Given the description of an element on the screen output the (x, y) to click on. 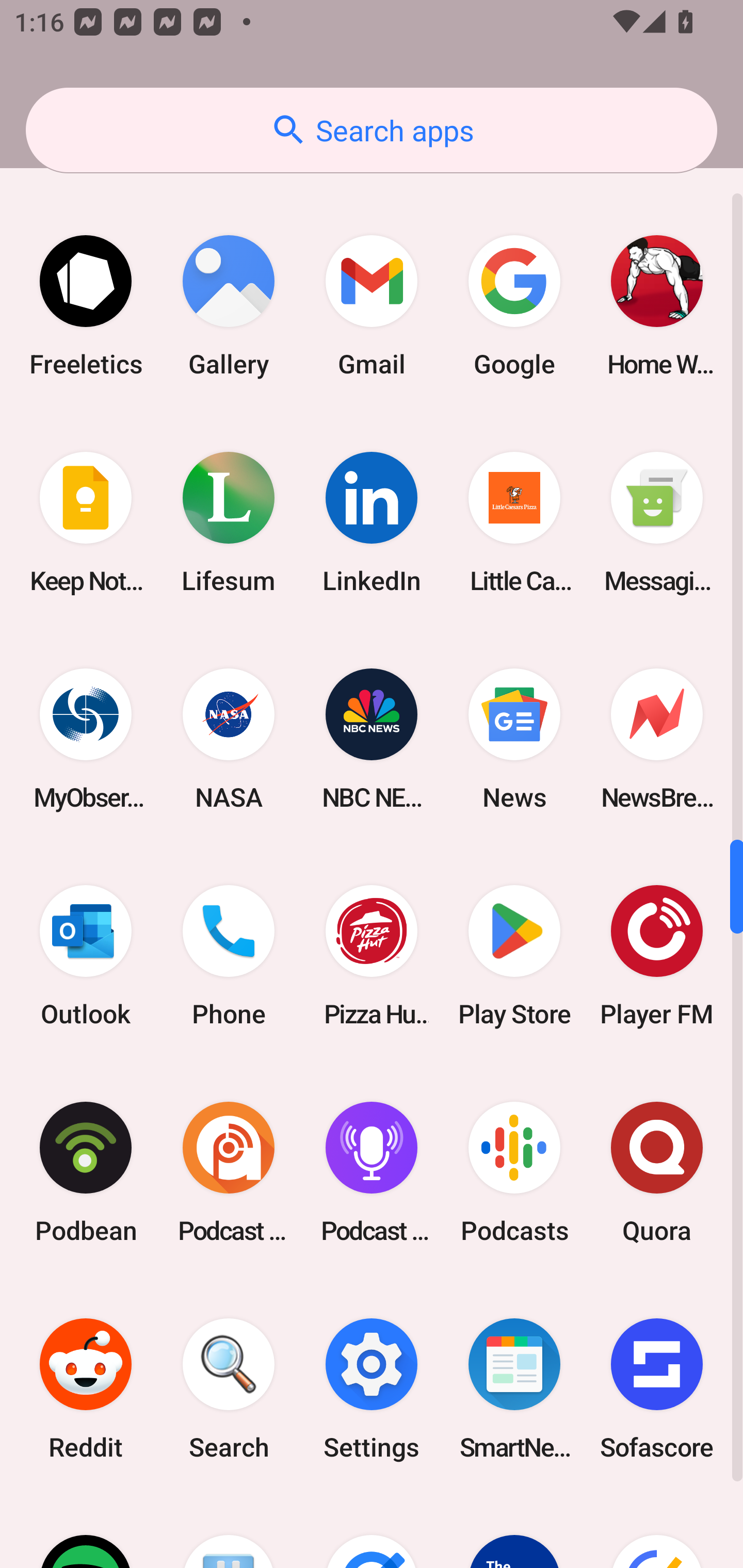
  Search apps (371, 130)
Freeletics (85, 305)
Gallery (228, 305)
Gmail (371, 305)
Google (514, 305)
Home Workout (656, 305)
Keep Notes (85, 521)
Lifesum (228, 521)
LinkedIn (371, 521)
Little Caesars Pizza (514, 521)
Messaging (656, 521)
MyObservatory (85, 738)
NASA (228, 738)
NBC NEWS (371, 738)
News (514, 738)
NewsBreak (656, 738)
Outlook (85, 955)
Phone (228, 955)
Pizza Hut HK & Macau (371, 955)
Play Store (514, 955)
Player FM (656, 955)
Podbean (85, 1172)
Podcast Addict (228, 1172)
Podcast Player (371, 1172)
Podcasts (514, 1172)
Quora (656, 1172)
Reddit (85, 1389)
Search (228, 1389)
Settings (371, 1389)
SmartNews (514, 1389)
Sofascore (656, 1389)
